Given the description of an element on the screen output the (x, y) to click on. 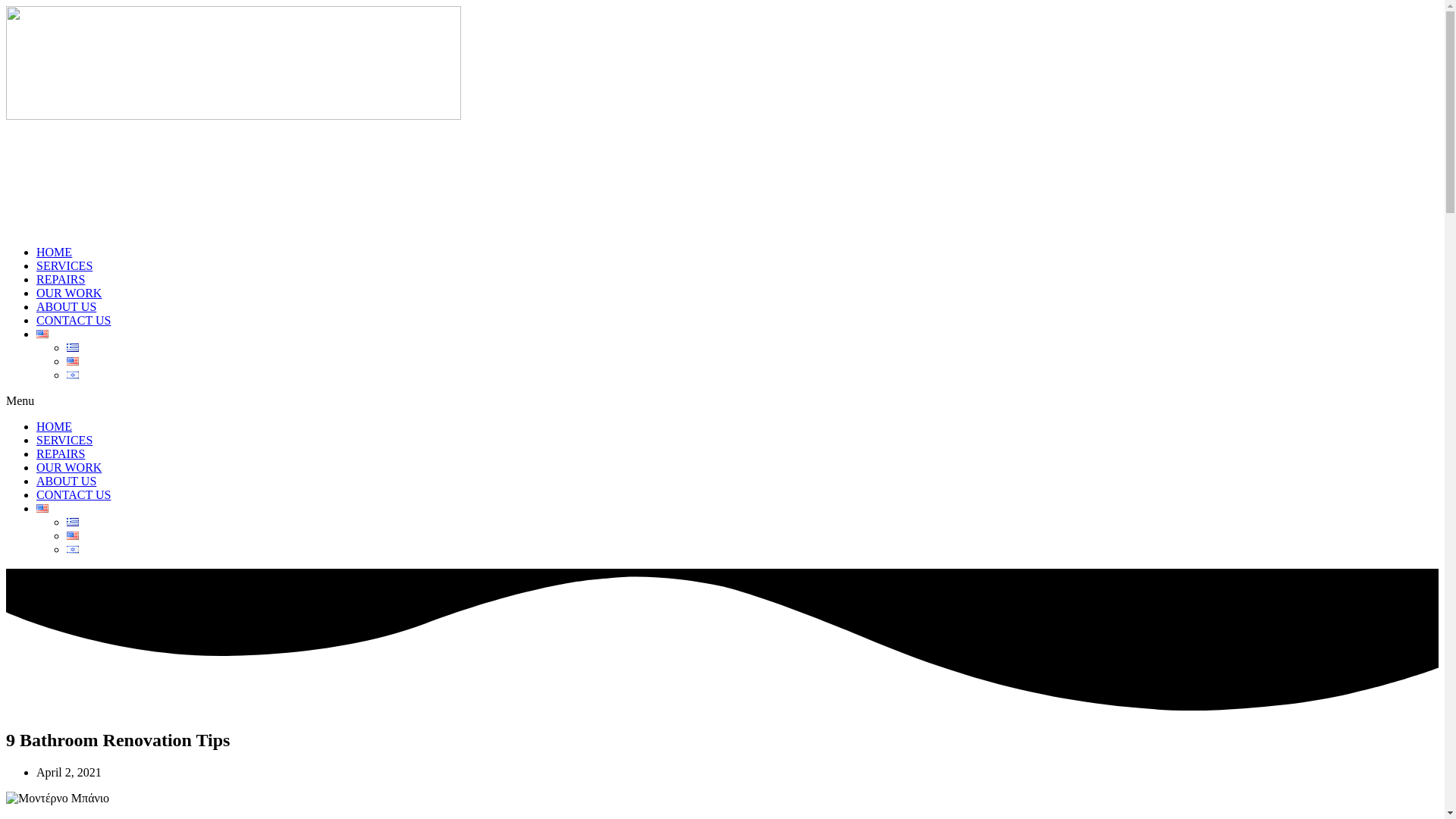
ABOUT US (66, 306)
OUR WORK (68, 292)
ABOUT US (66, 481)
CONTACT US (73, 494)
HOME (53, 251)
REPAIRS (60, 278)
CONTACT US (73, 319)
SERVICES (64, 265)
OUR WORK (68, 467)
HOME (53, 426)
SERVICES (64, 440)
REPAIRS (60, 453)
